Given the description of an element on the screen output the (x, y) to click on. 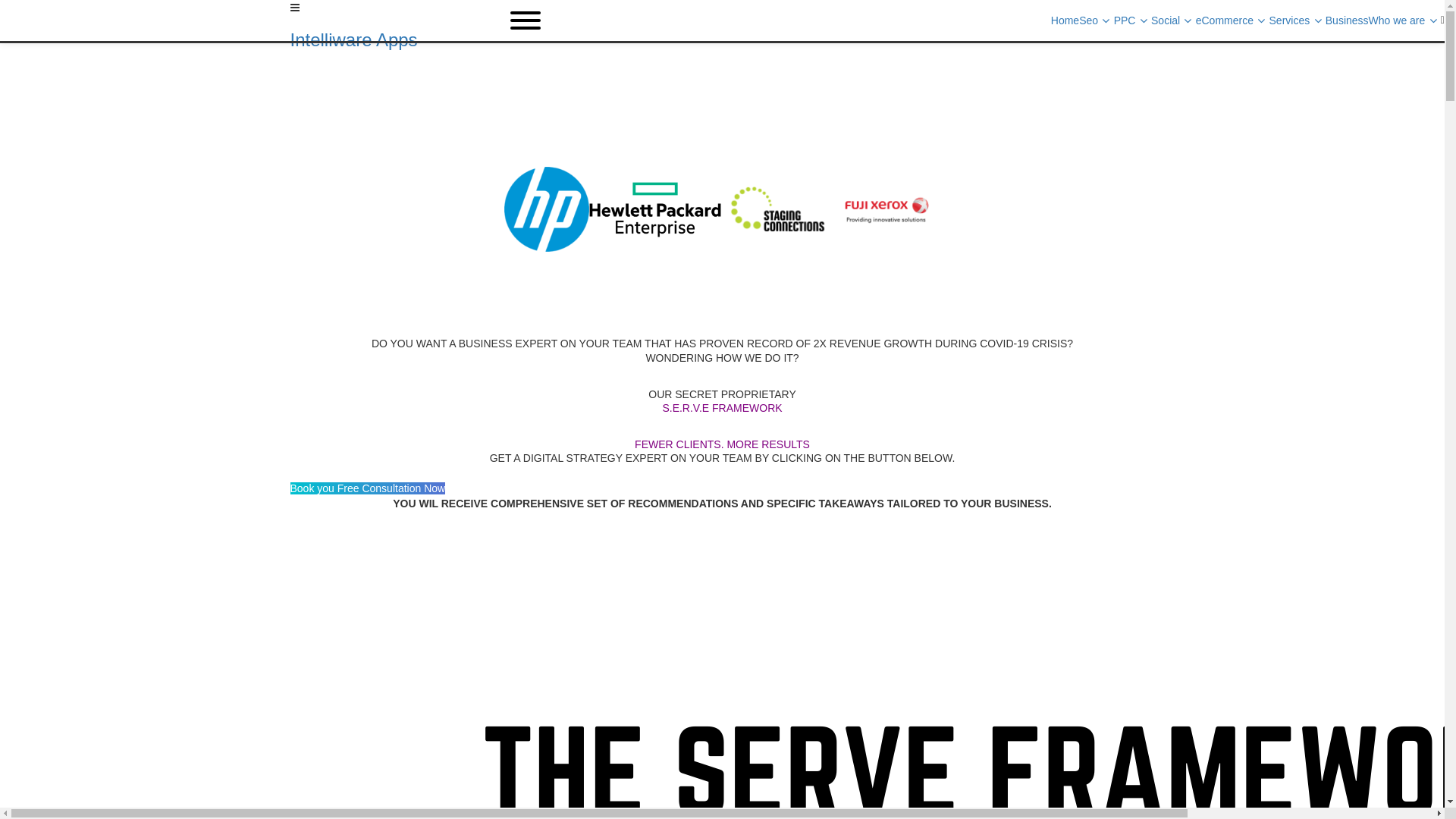
Social Element type: text (1173, 20)
Home Element type: text (1065, 20)
Business Element type: text (1346, 20)
Who we are Element type: text (1404, 20)
Seo Element type: text (1096, 20)
PPC Element type: text (1132, 20)
Services Element type: text (1297, 20)
Book you Free Consultation Now Element type: text (367, 488)
eCommerce Element type: text (1232, 20)
Intelliware Apps Element type: text (721, 40)
